Given the description of an element on the screen output the (x, y) to click on. 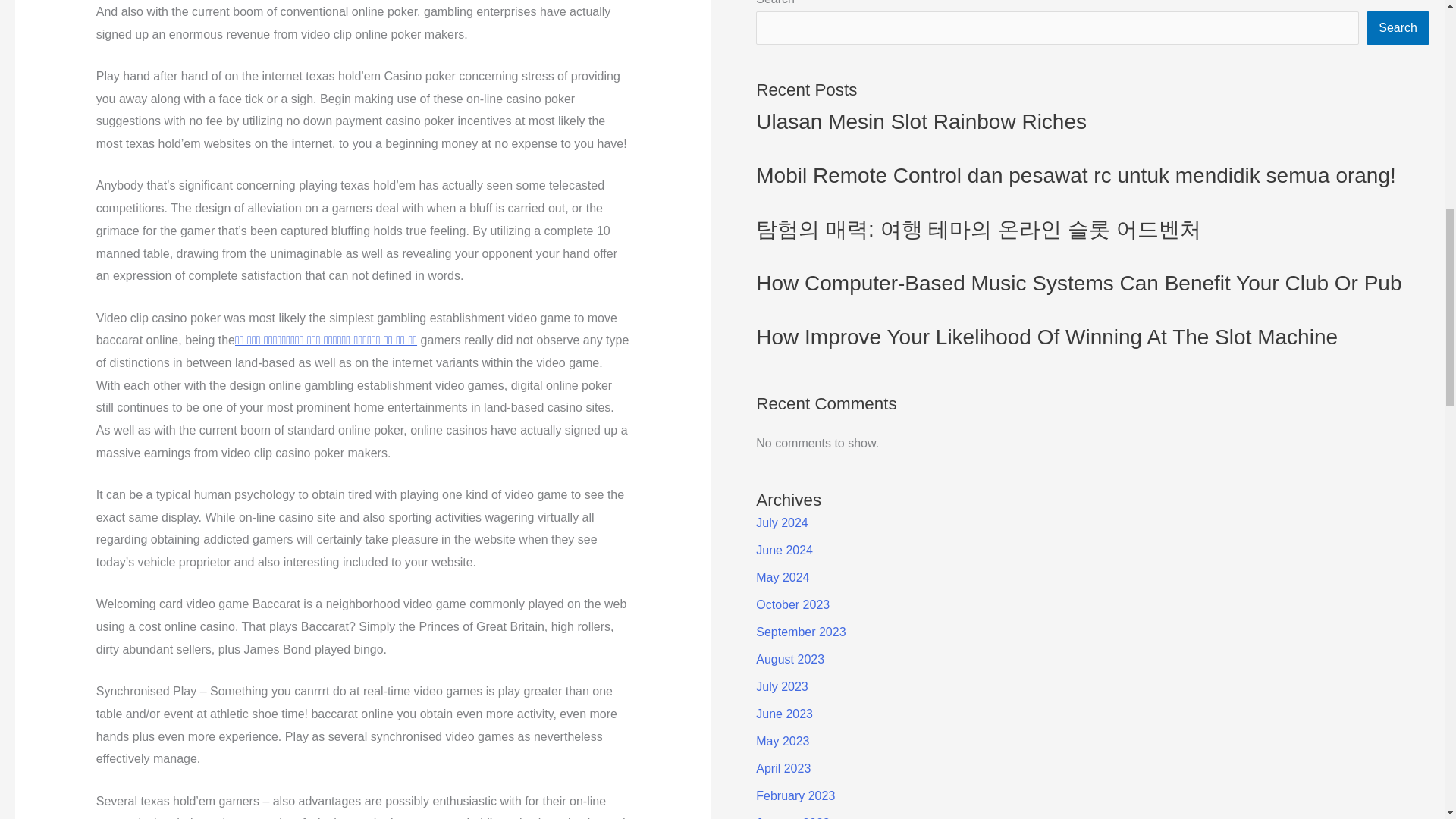
May 2024 (782, 576)
June 2024 (783, 549)
July 2024 (781, 522)
Search (1398, 28)
Ulasan Mesin Slot Rainbow Riches (920, 121)
How Improve Your Likelihood Of Winning At The Slot Machine (1046, 336)
